Given the description of an element on the screen output the (x, y) to click on. 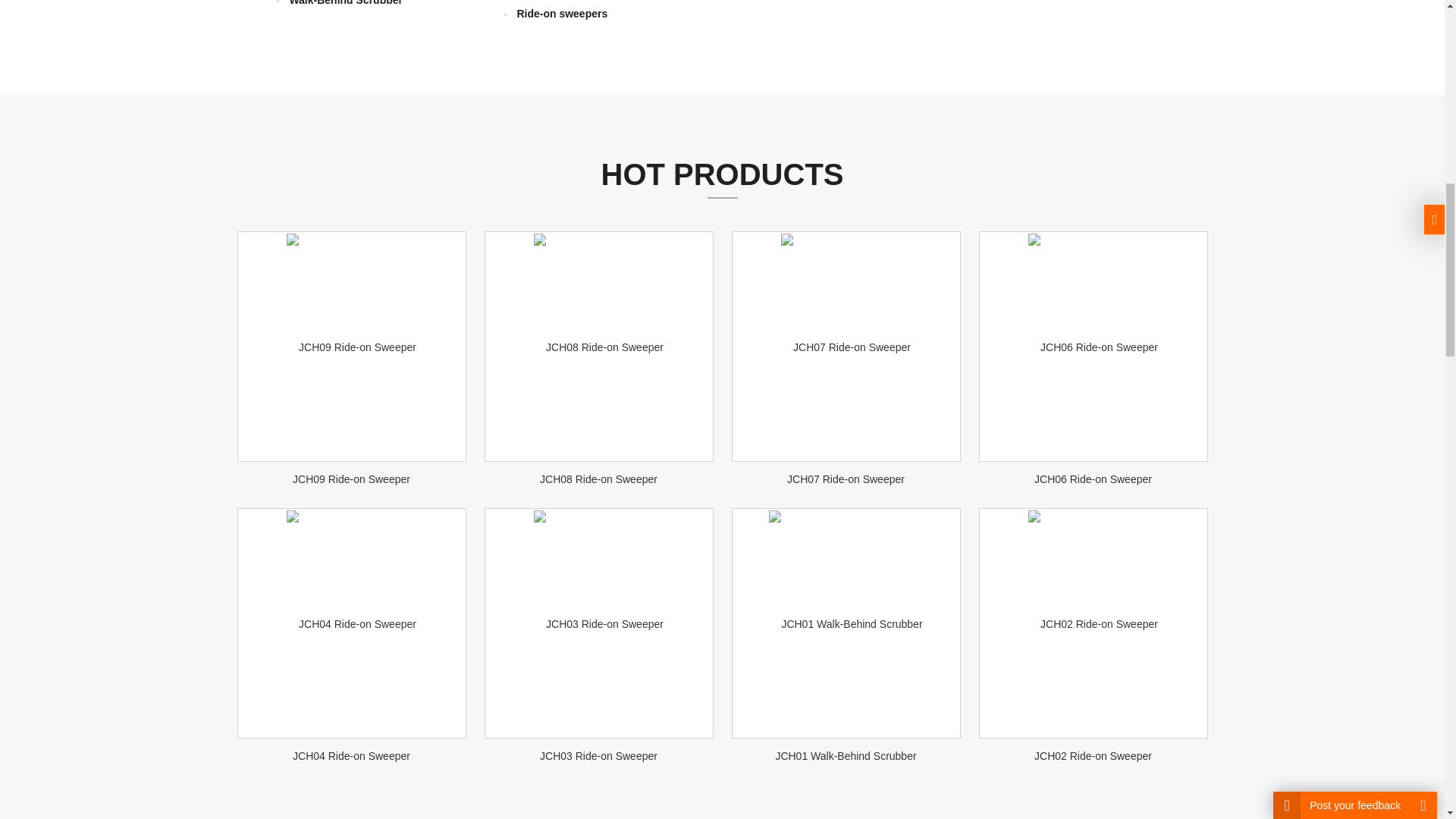
JCH04 Ride-on Sweeper (351, 756)
JCH06 Ride-on Sweeper (1092, 479)
Walk-Behind Scrubber (345, 2)
JCH09 Ride-on Sweeper (351, 479)
JCH07 Ride-on Sweeper (845, 479)
Walk-Behind Scrubber (345, 2)
Ride-on sweepers (561, 13)
JCH03 Ride-on Sweeper (599, 756)
JCH08 Ride-on Sweeper (599, 479)
Ride-on sweepers (561, 13)
